Given the description of an element on the screen output the (x, y) to click on. 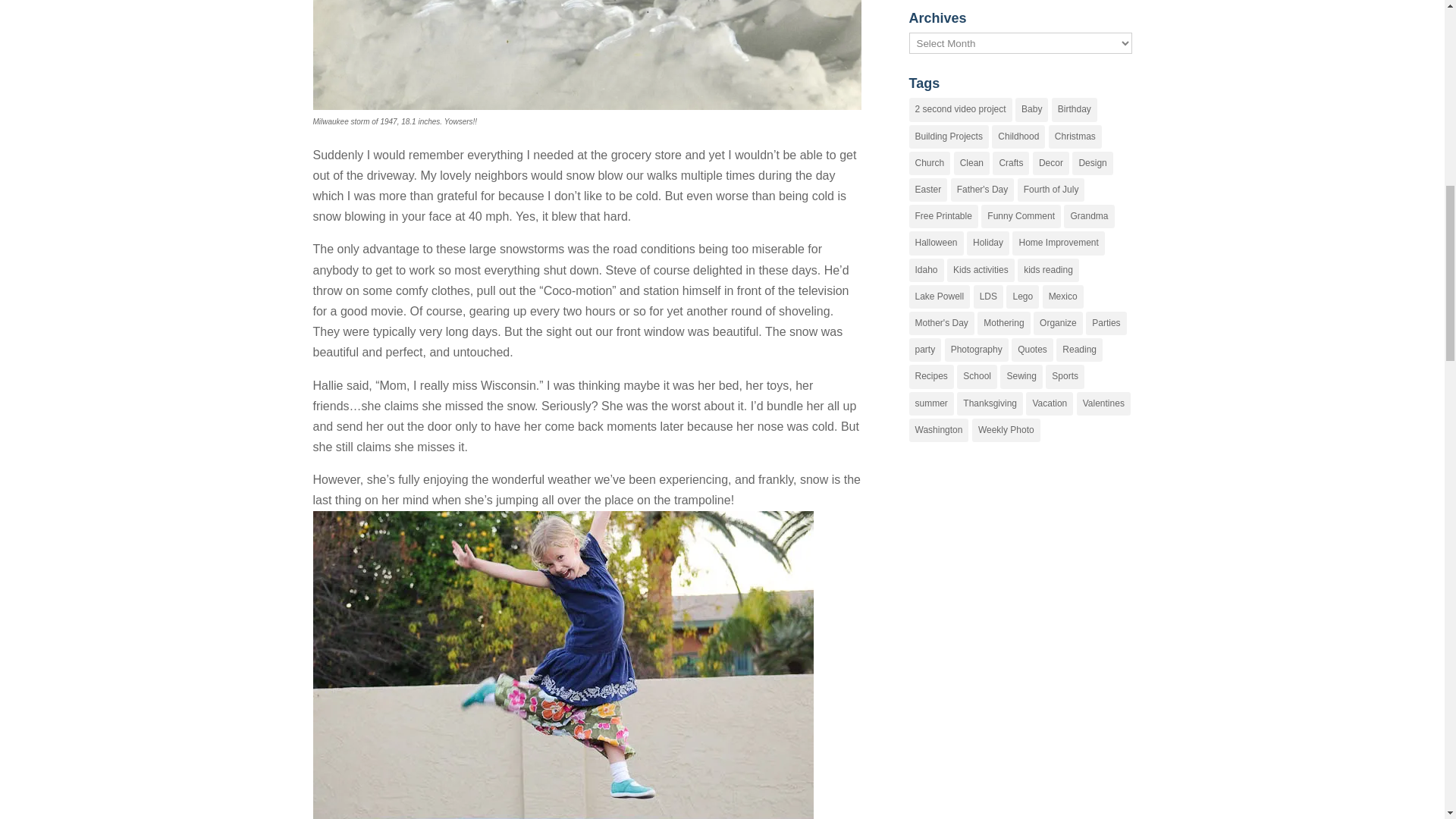
Crafts (1010, 163)
Baby (1031, 109)
2 second video project (959, 109)
Clean (971, 163)
Church (929, 163)
Birthday (1074, 109)
Christmas (1075, 136)
Childhood (1018, 136)
Building Projects (948, 136)
